Given the description of an element on the screen output the (x, y) to click on. 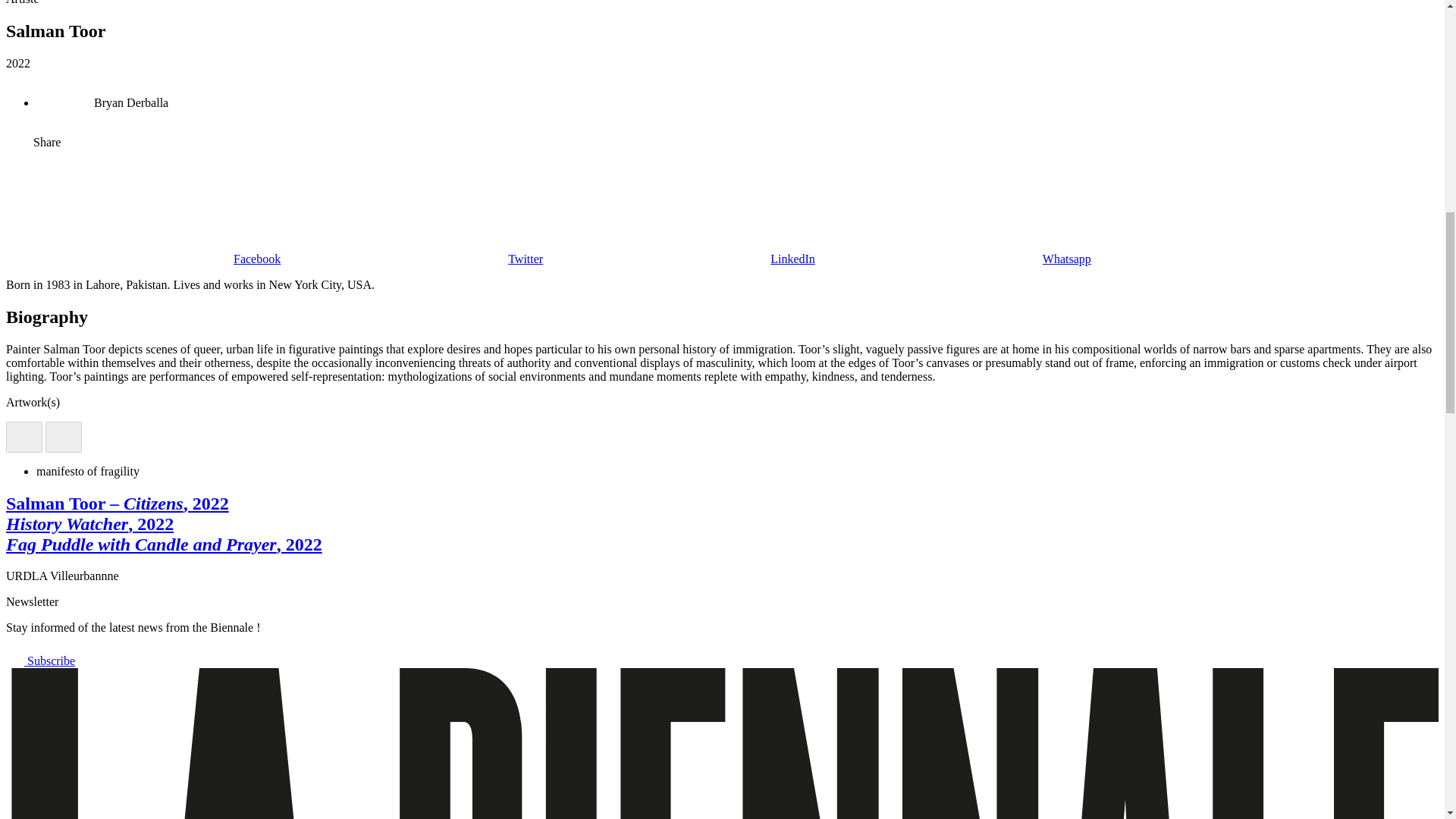
Share on LinkedIn (679, 258)
Share on Whatsapp (952, 258)
Share on Twitter (412, 258)
Share on Facebook (143, 258)
